Given the description of an element on the screen output the (x, y) to click on. 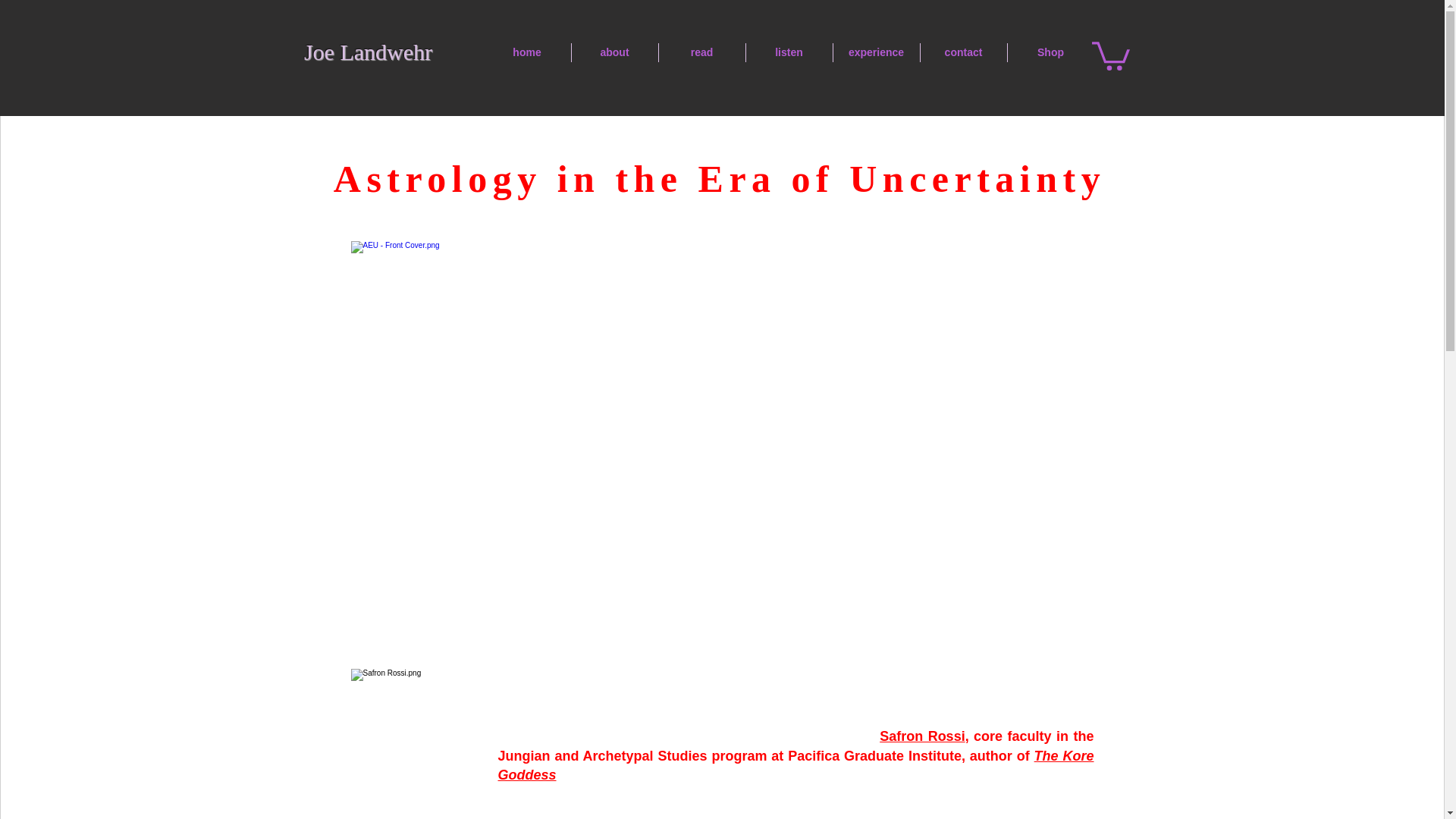
Safron Rossi (921, 735)
The Kore Goddess (795, 765)
read (701, 52)
home (526, 52)
about (615, 52)
listen (788, 52)
contact (963, 52)
experience (875, 52)
Shop (1050, 52)
